Given the description of an element on the screen output the (x, y) to click on. 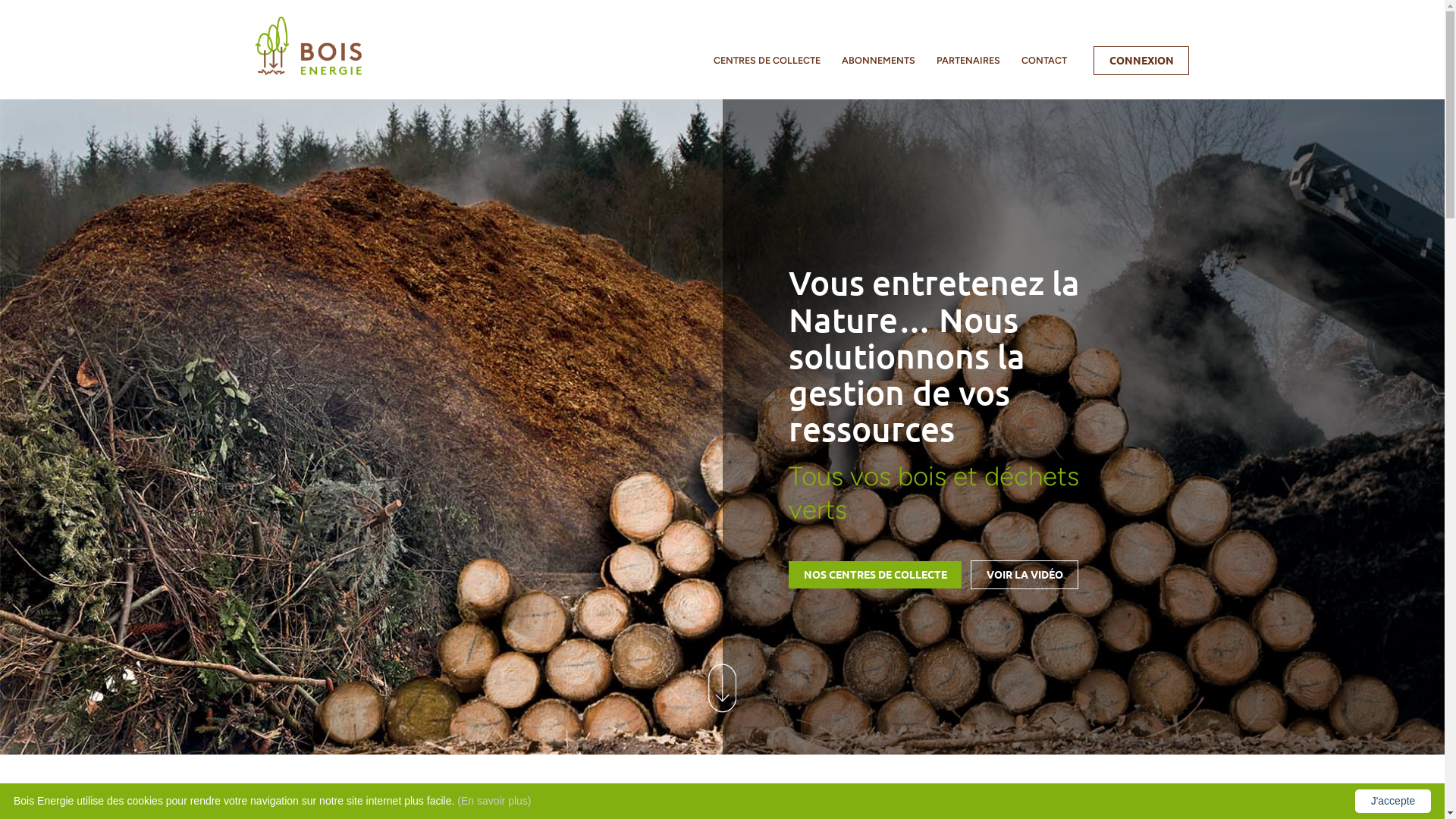
(En savoir plus) Element type: text (493, 800)
ABONNEMENTS Element type: text (878, 60)
CENTRES DE COLLECTE Element type: text (766, 60)
PARTENAIRES Element type: text (968, 60)
CONTACT Element type: text (1043, 60)
CONNEXION Element type: text (1141, 60)
NOS CENTRES DE COLLECTE Element type: text (874, 574)
